Given the description of an element on the screen output the (x, y) to click on. 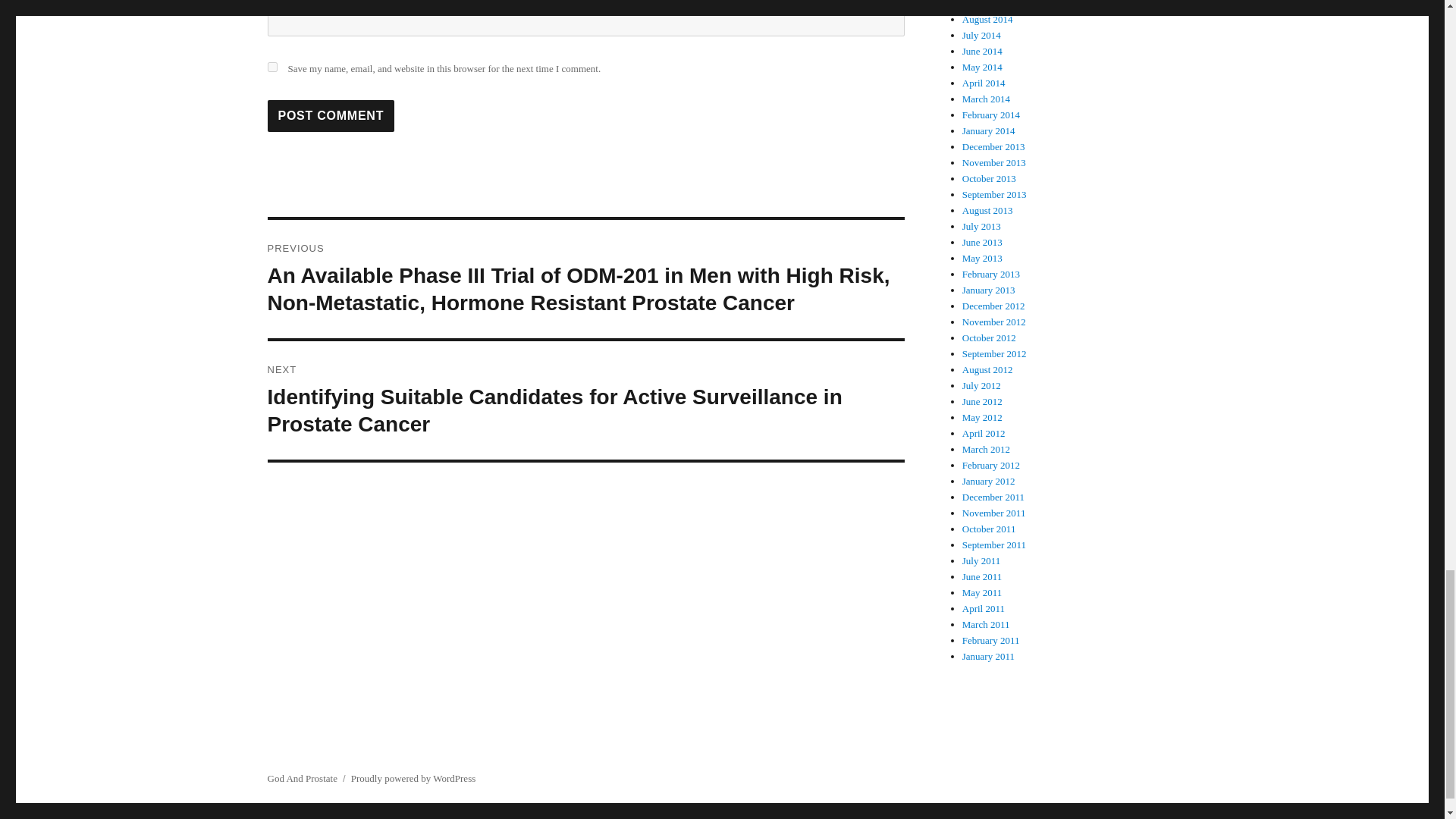
Post Comment (330, 115)
yes (271, 67)
Post Comment (330, 115)
